Given the description of an element on the screen output the (x, y) to click on. 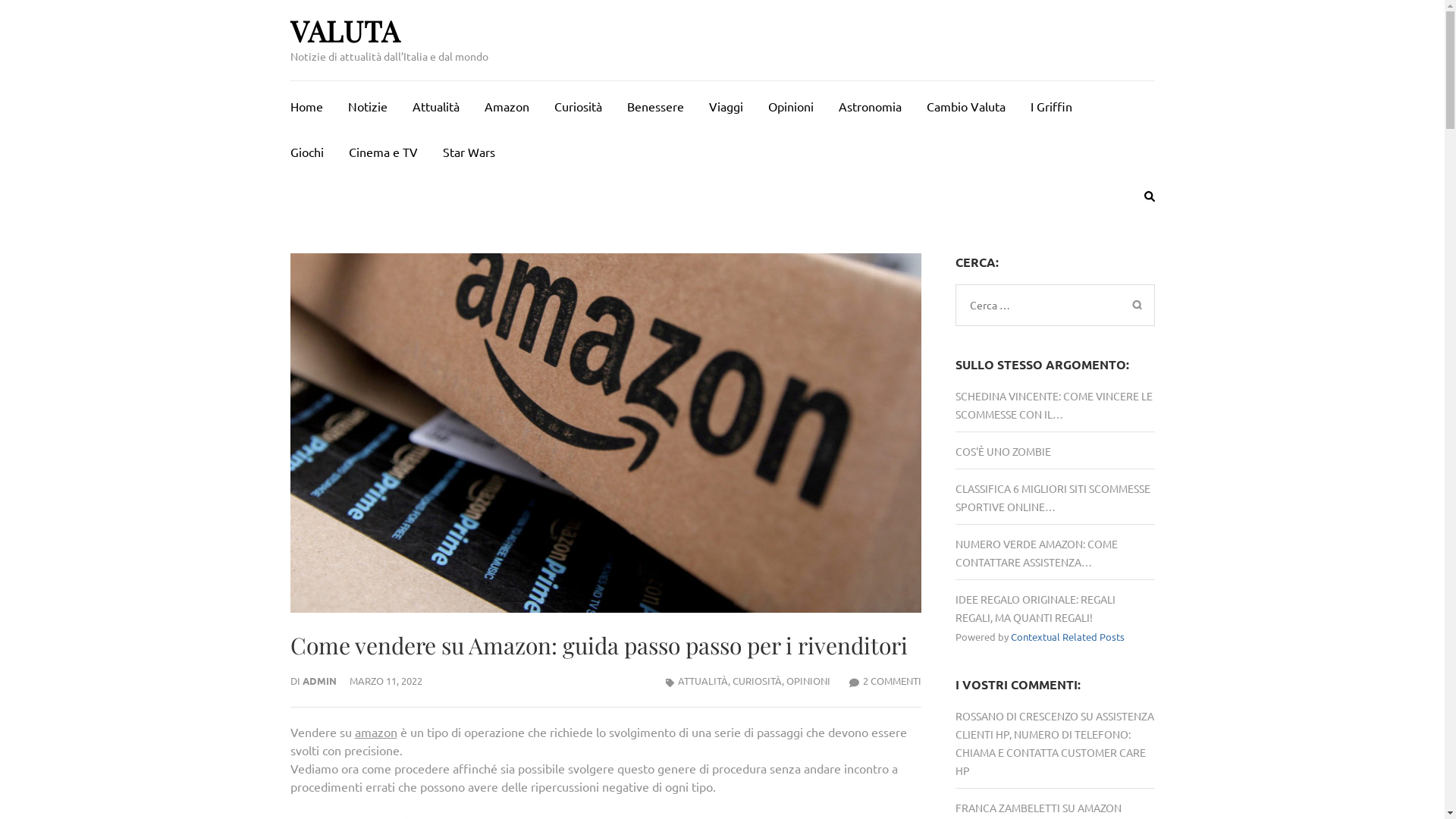
Benessere Element type: text (654, 103)
Astronomia Element type: text (869, 103)
VALUTA Element type: text (344, 30)
OPINIONI Element type: text (808, 680)
amazon Element type: text (375, 731)
Notizie Element type: text (366, 103)
Cerca Element type: text (1136, 304)
MARZO 11, 2022 Element type: text (384, 680)
Opinioni Element type: text (789, 103)
IDEE REGALO ORIGINALE: REGALI REGALI, MA QUANTI REGALI! Element type: text (1035, 608)
Home Element type: text (305, 103)
Cinema e TV Element type: text (382, 149)
Viaggi Element type: text (725, 103)
Giochi Element type: text (306, 149)
Passa al contenuto (premi invio) Element type: text (0, 0)
Amazon Element type: text (505, 103)
I Griffin Element type: text (1050, 103)
Contextual Related Posts Element type: text (1067, 636)
Star Wars Element type: text (468, 149)
Cambio Valuta Element type: text (965, 103)
ADMIN Element type: text (318, 680)
